Given the description of an element on the screen output the (x, y) to click on. 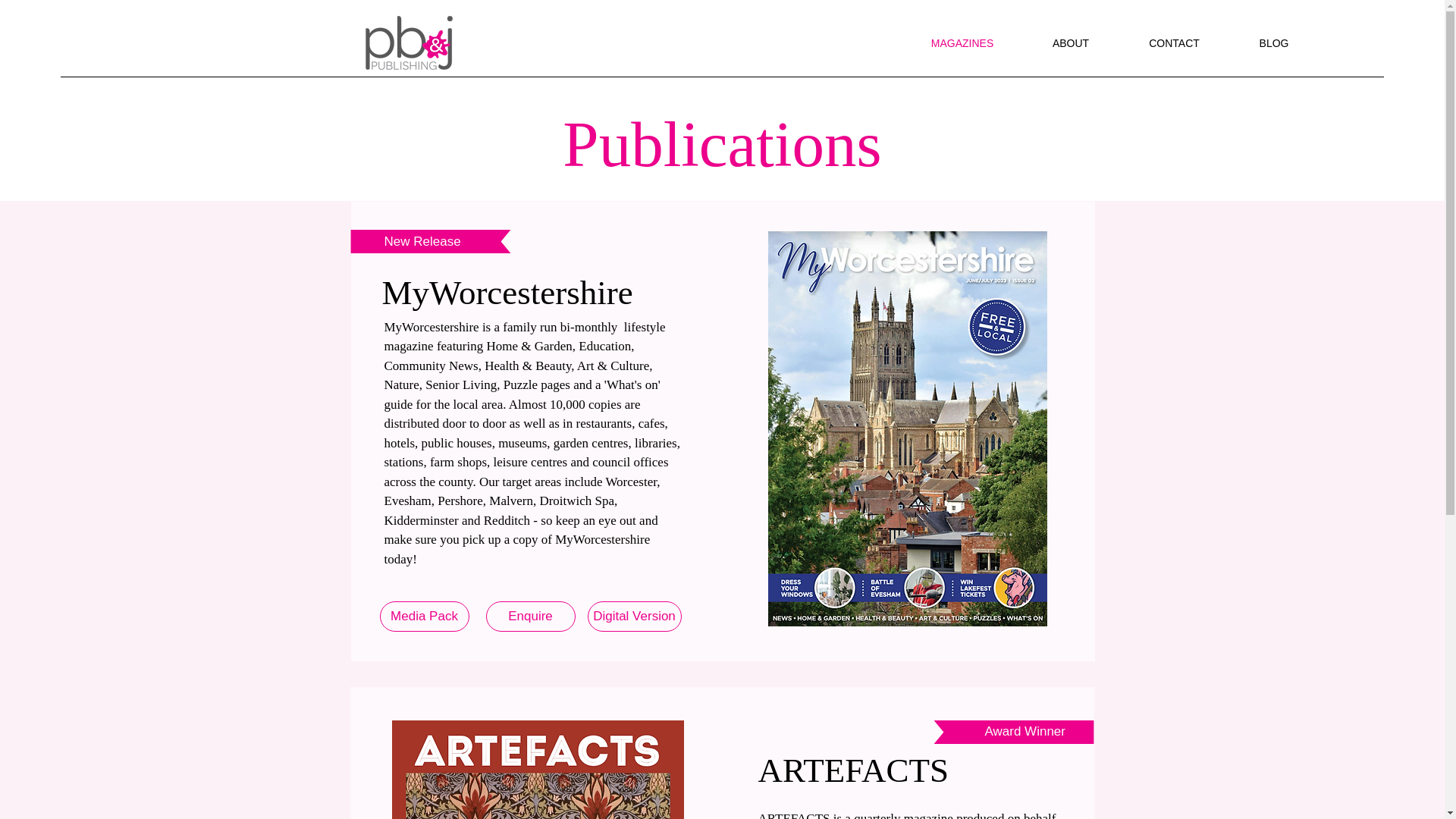
Media Pack (423, 616)
CONTACT (1173, 43)
Enquire (529, 616)
Digital Version (633, 616)
BLOG (1273, 43)
MAGAZINES (962, 43)
ABOUT (1070, 43)
